Given the description of an element on the screen output the (x, y) to click on. 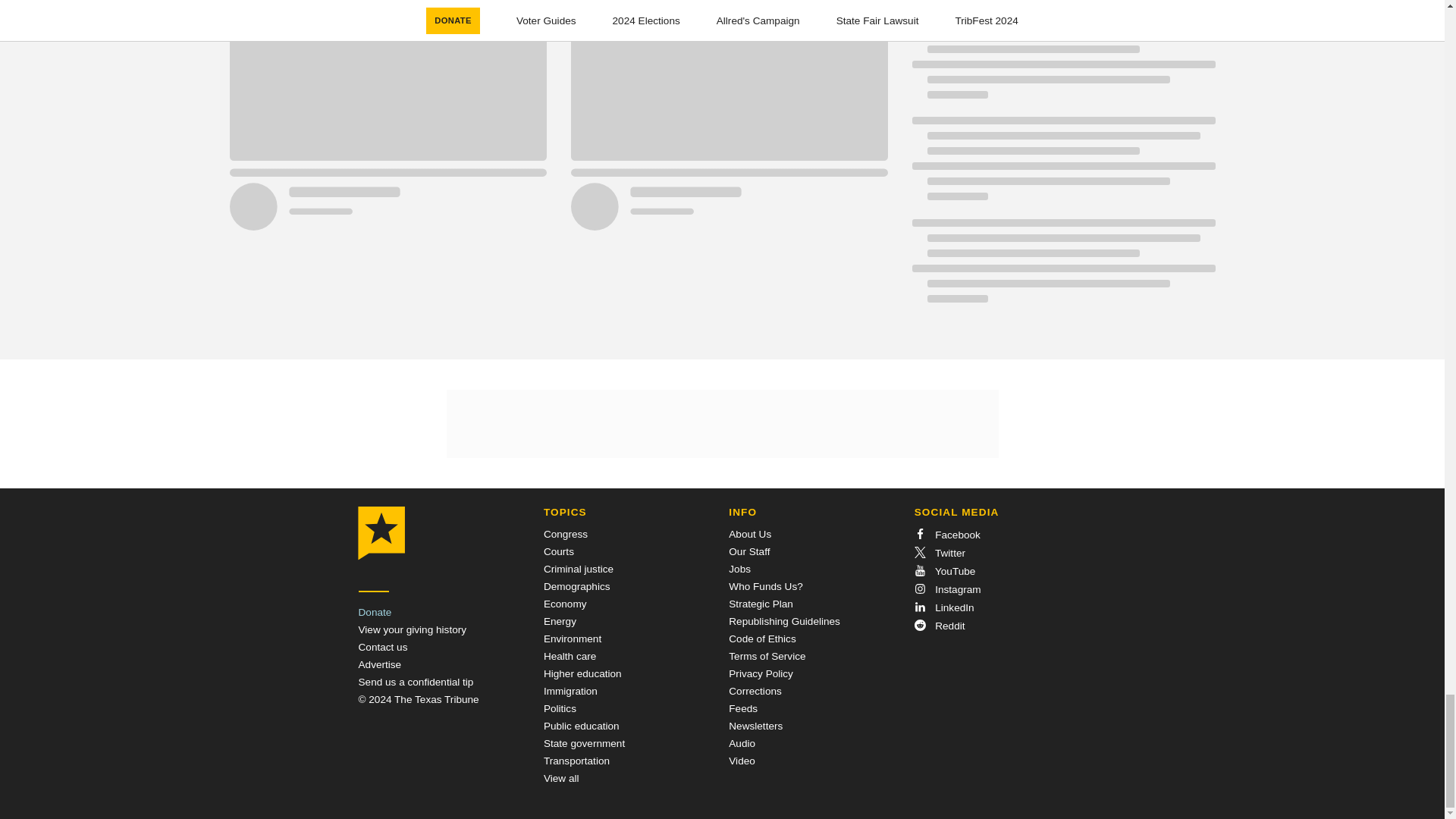
Privacy Policy (761, 673)
Facebook (946, 534)
About Us (750, 533)
Feeds (743, 708)
Advertise (379, 664)
Send a Tip (415, 681)
Republishing Guidelines (784, 621)
View your giving history (411, 629)
Terms of Service (767, 655)
Contact us (382, 646)
